Given the description of an element on the screen output the (x, y) to click on. 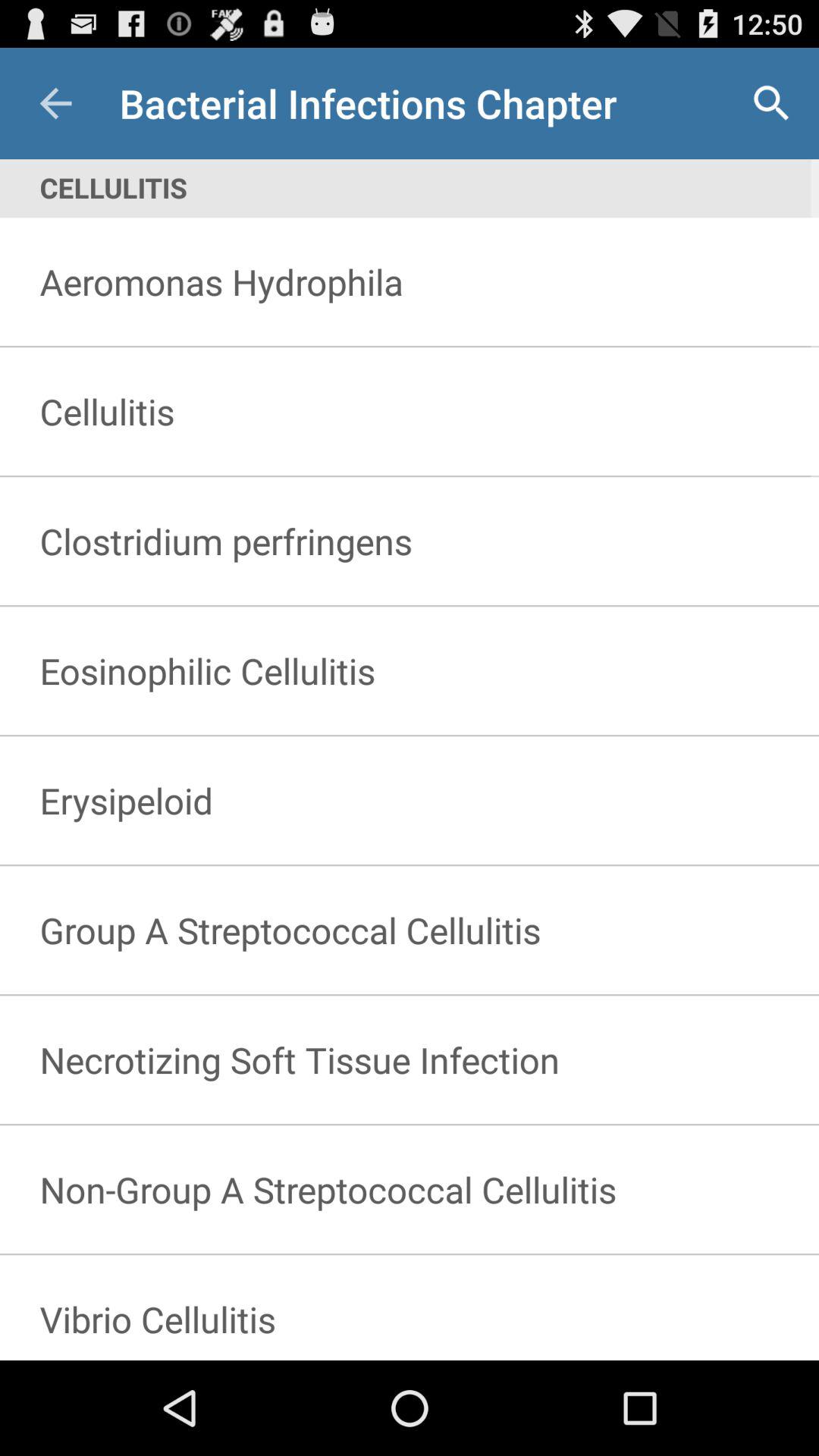
turn off the icon above the cellulitis icon (771, 103)
